Given the description of an element on the screen output the (x, y) to click on. 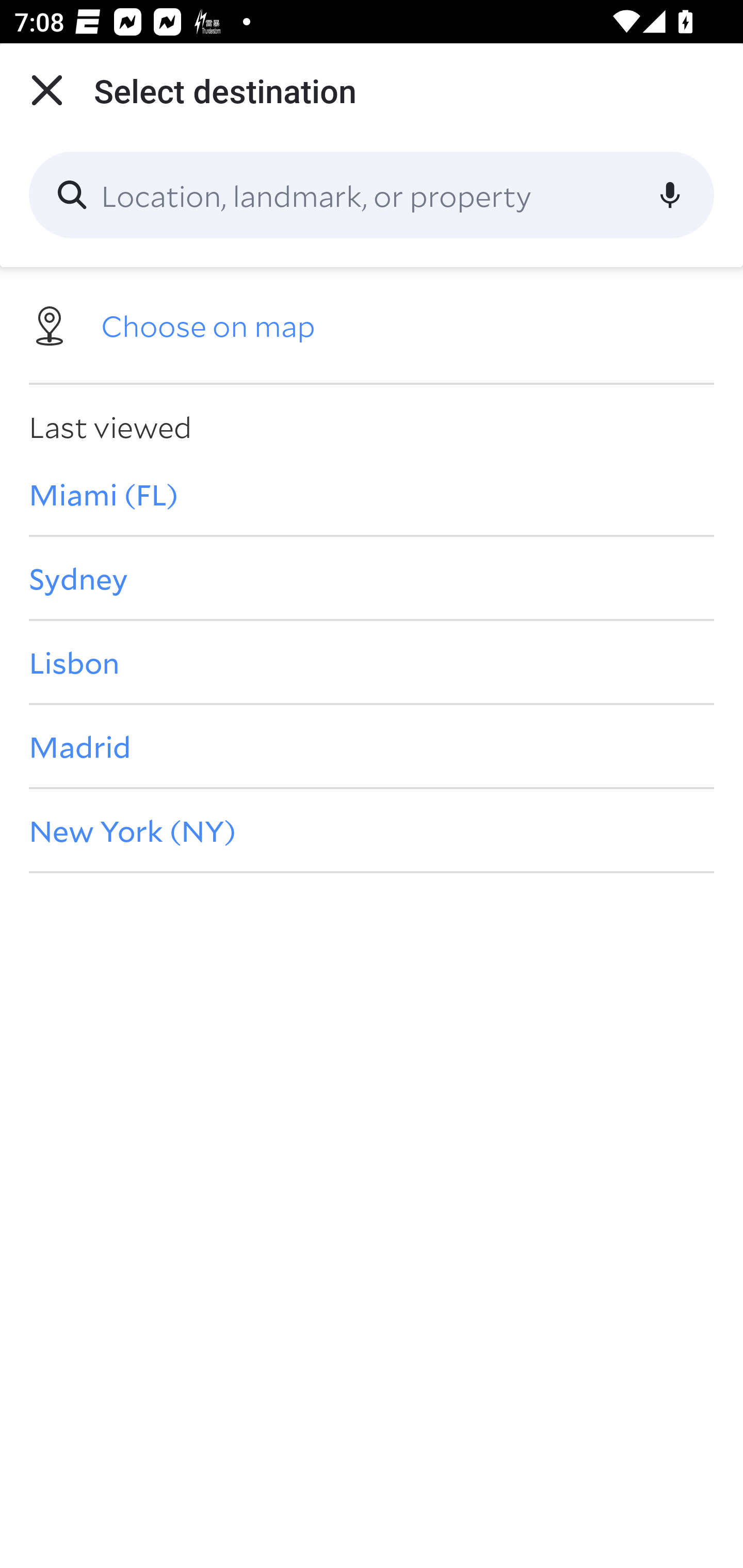
Location, landmark, or property (371, 195)
Choose on map (371, 324)
Miami (FL) (371, 493)
Sydney (371, 577)
Lisbon (371, 661)
Madrid (371, 746)
New York (NY) (371, 829)
